Given the description of an element on the screen output the (x, y) to click on. 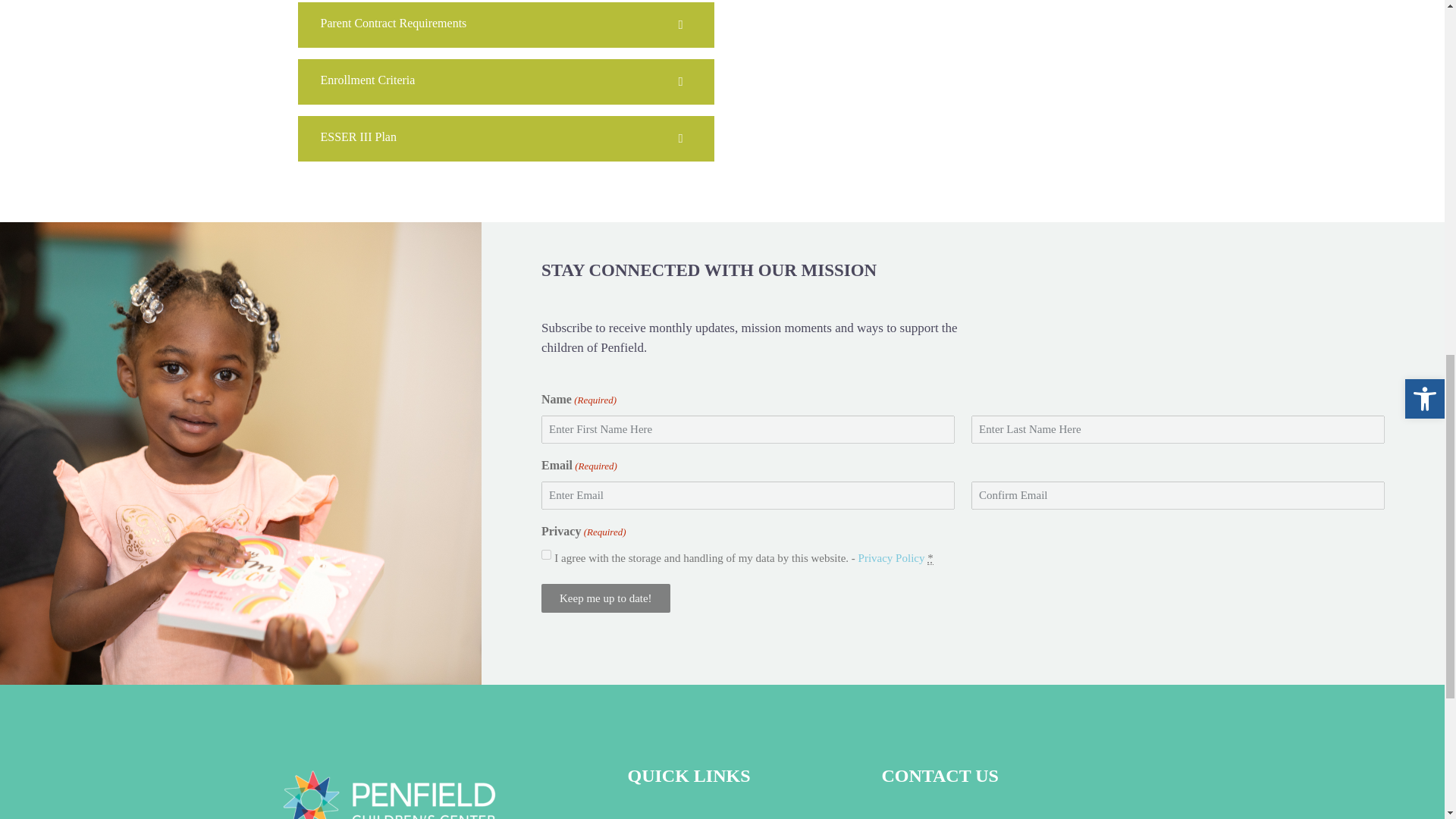
I agree (546, 554)
Keep me up to date! (605, 597)
